Given the description of an element on the screen output the (x, y) to click on. 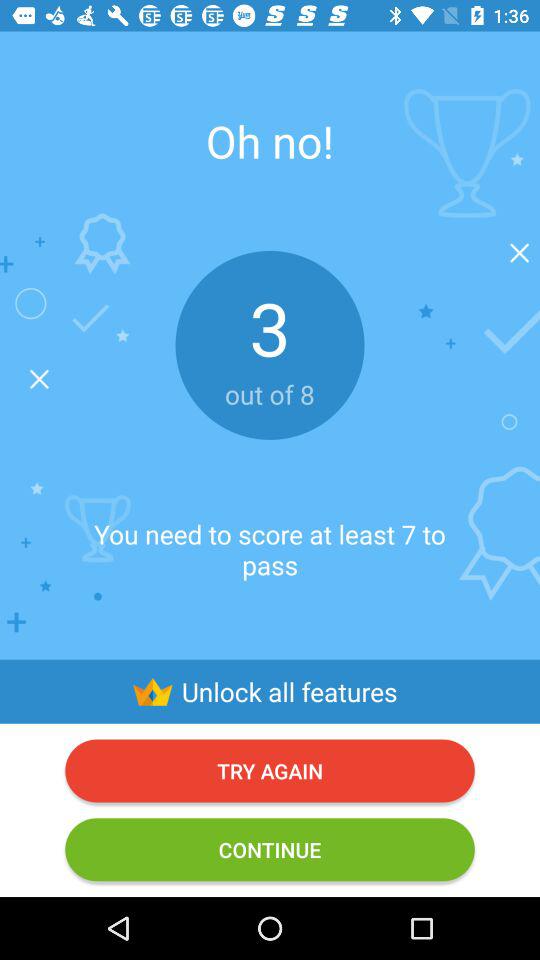
jump until the continue item (269, 849)
